Given the description of an element on the screen output the (x, y) to click on. 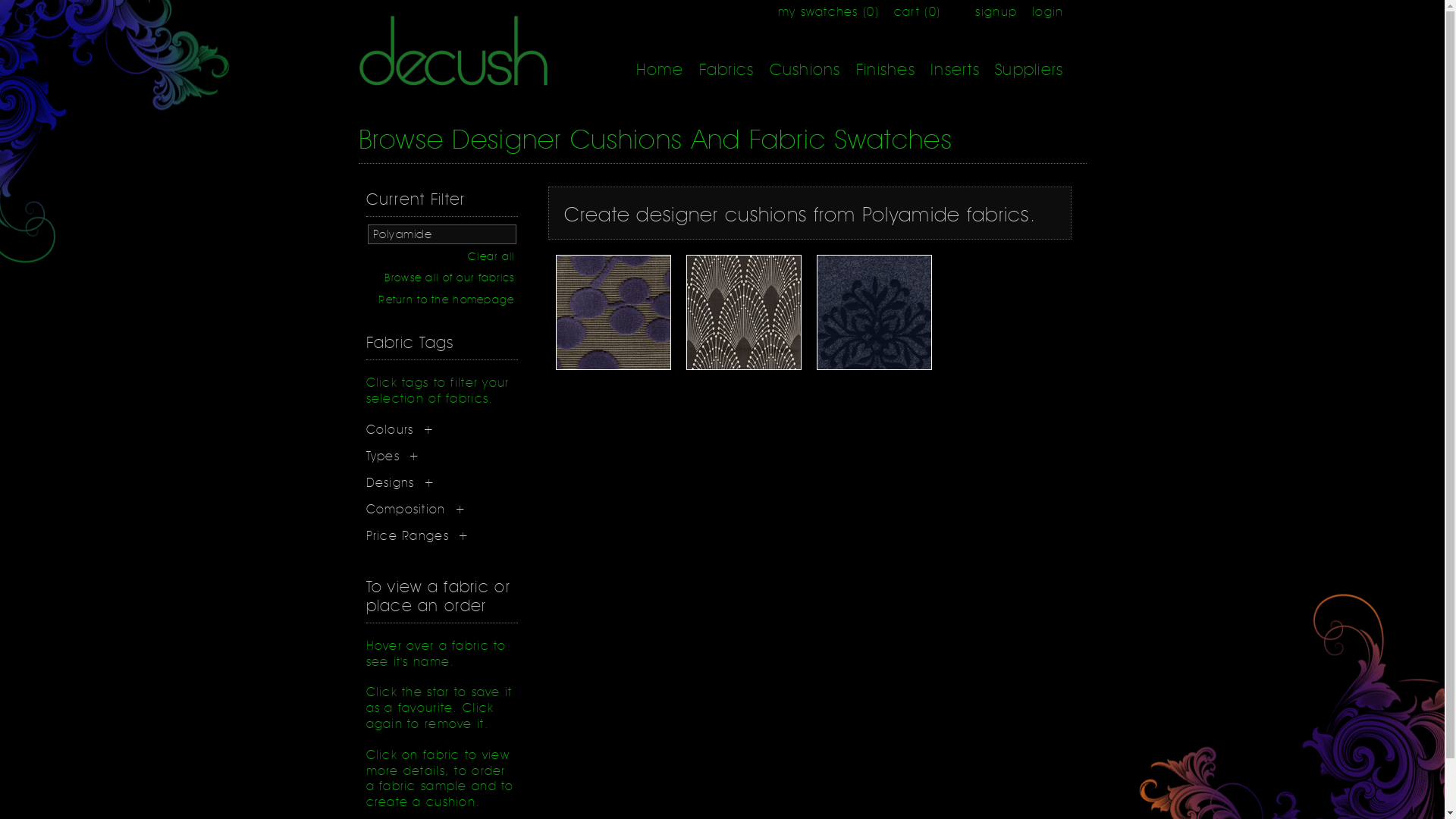
login Element type: text (1047, 11)
my swatches (0) Element type: text (828, 11)
Inserts Element type: text (954, 68)
Suppliers Element type: text (1028, 68)
Clear all Element type: text (490, 256)
Finishes Element type: text (885, 68)
Whistler Granite Cushions Element type: hover (874, 366)
Browse all of our fabrics Element type: text (449, 277)
cart (0) Element type: text (917, 11)
Return to the homepage Element type: text (446, 299)
Home Element type: text (659, 68)
Rivoli Prussian Blue Cushions Element type: hover (743, 366)
signup Element type: text (995, 11)
Cushions Element type: text (804, 68)
Fabrics Element type: text (726, 68)
Haro  Cushions Element type: hover (613, 366)
